Given the description of an element on the screen output the (x, y) to click on. 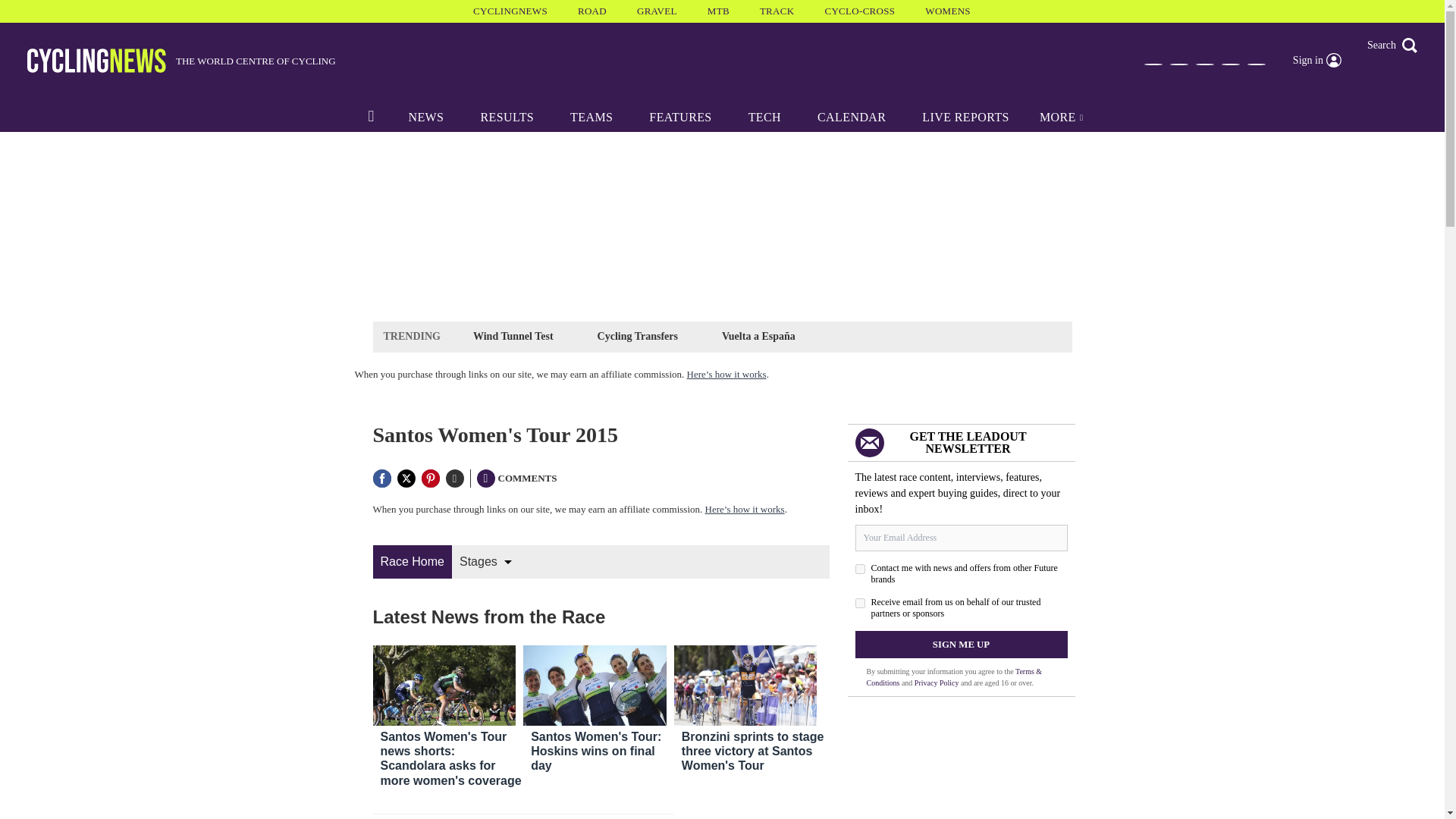
on (860, 569)
GRAVEL (657, 10)
Cycling Transfers (637, 336)
THE WORLD CENTRE OF CYCLING (181, 60)
TEAMS (590, 117)
CYCLO-CROSS (600, 561)
LIVE REPORTS (859, 10)
TECH (965, 117)
FEATURES (764, 117)
